Given the description of an element on the screen output the (x, y) to click on. 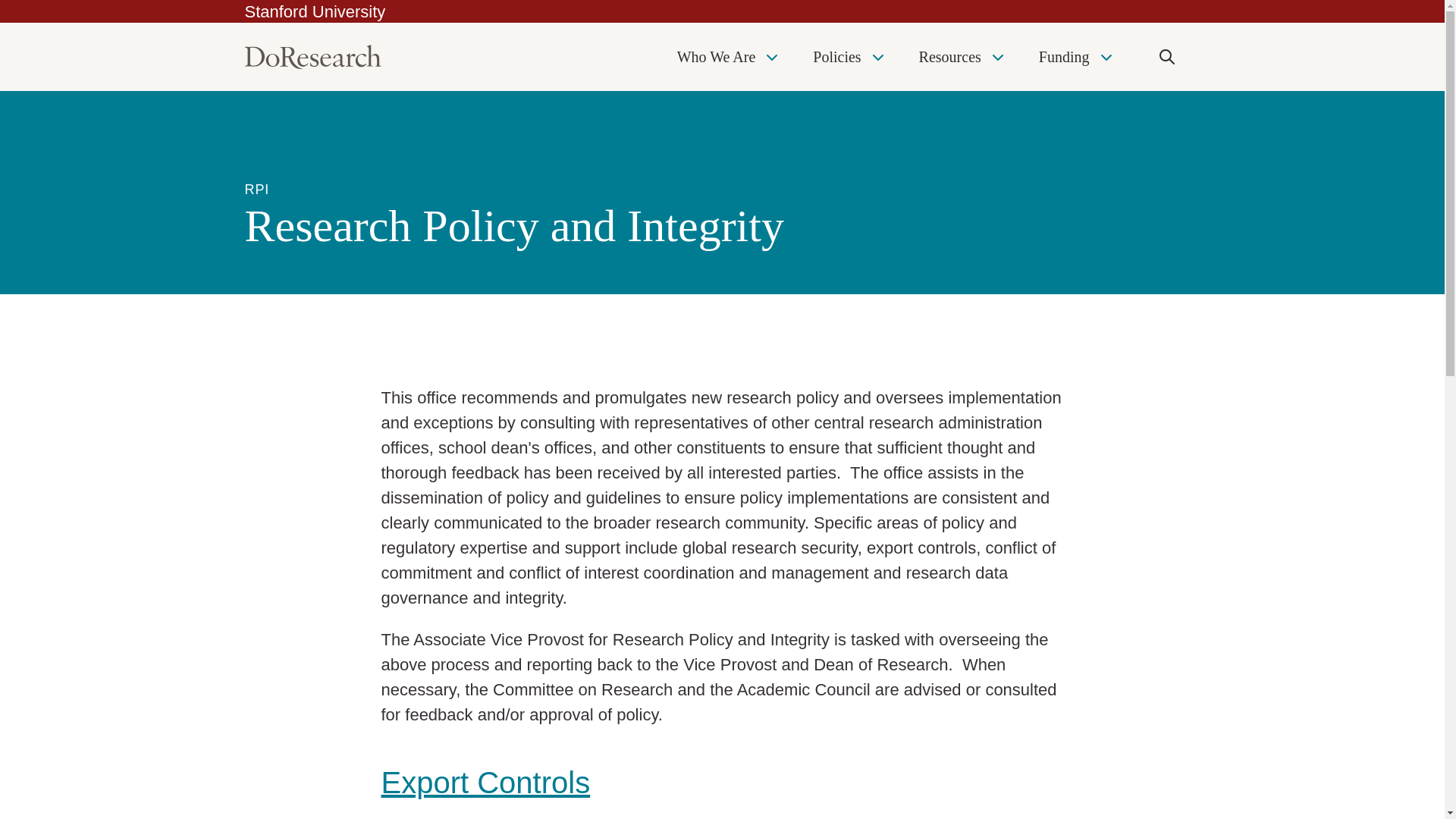
Policies (849, 56)
Stanford University (314, 11)
Export Controls (484, 782)
Who We Are (729, 56)
Funding (1077, 56)
Resources (962, 56)
Home (312, 56)
Skip to main content (4, 4)
